Given the description of an element on the screen output the (x, y) to click on. 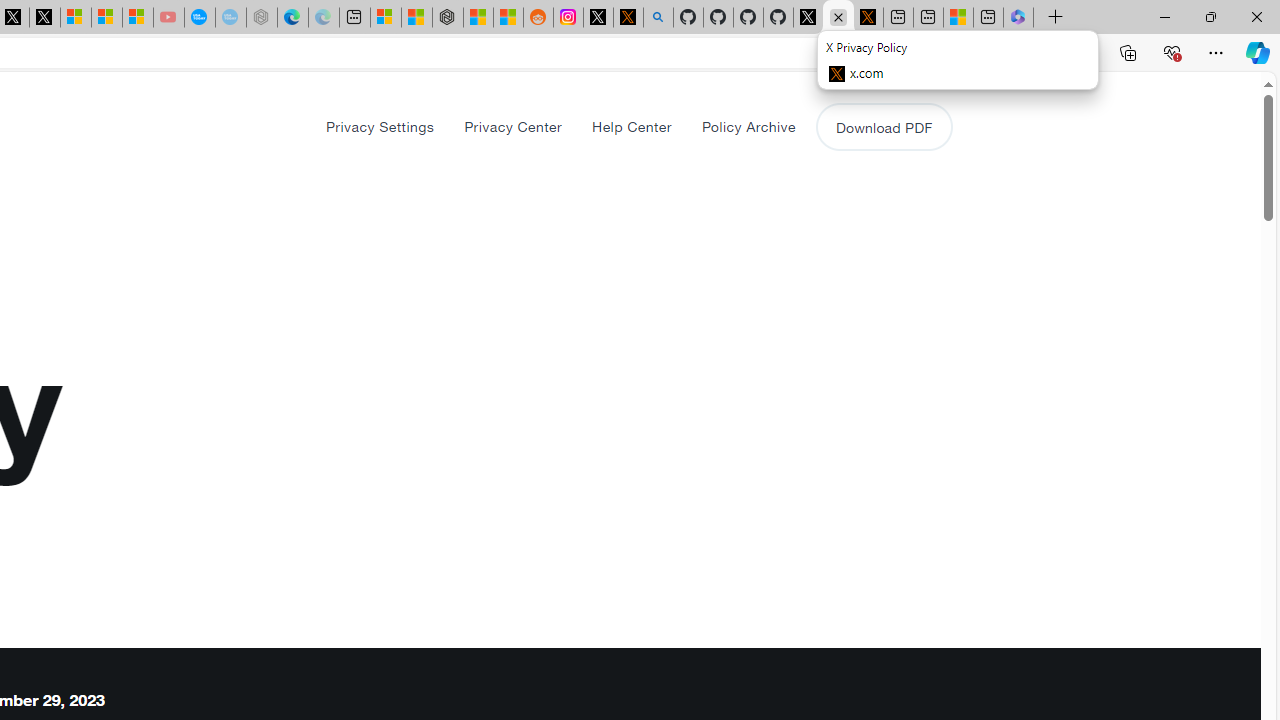
Microsoft account | Microsoft Account Privacy Settings (385, 17)
Privacy Settings (379, 126)
Download PDF (884, 126)
Help Center (631, 126)
Shanghai, China Weather trends | Microsoft Weather (508, 17)
Profile / X (808, 17)
Opinion: Op-Ed and Commentary - USA TODAY (200, 17)
Log in to X / X (598, 17)
